Given the description of an element on the screen output the (x, y) to click on. 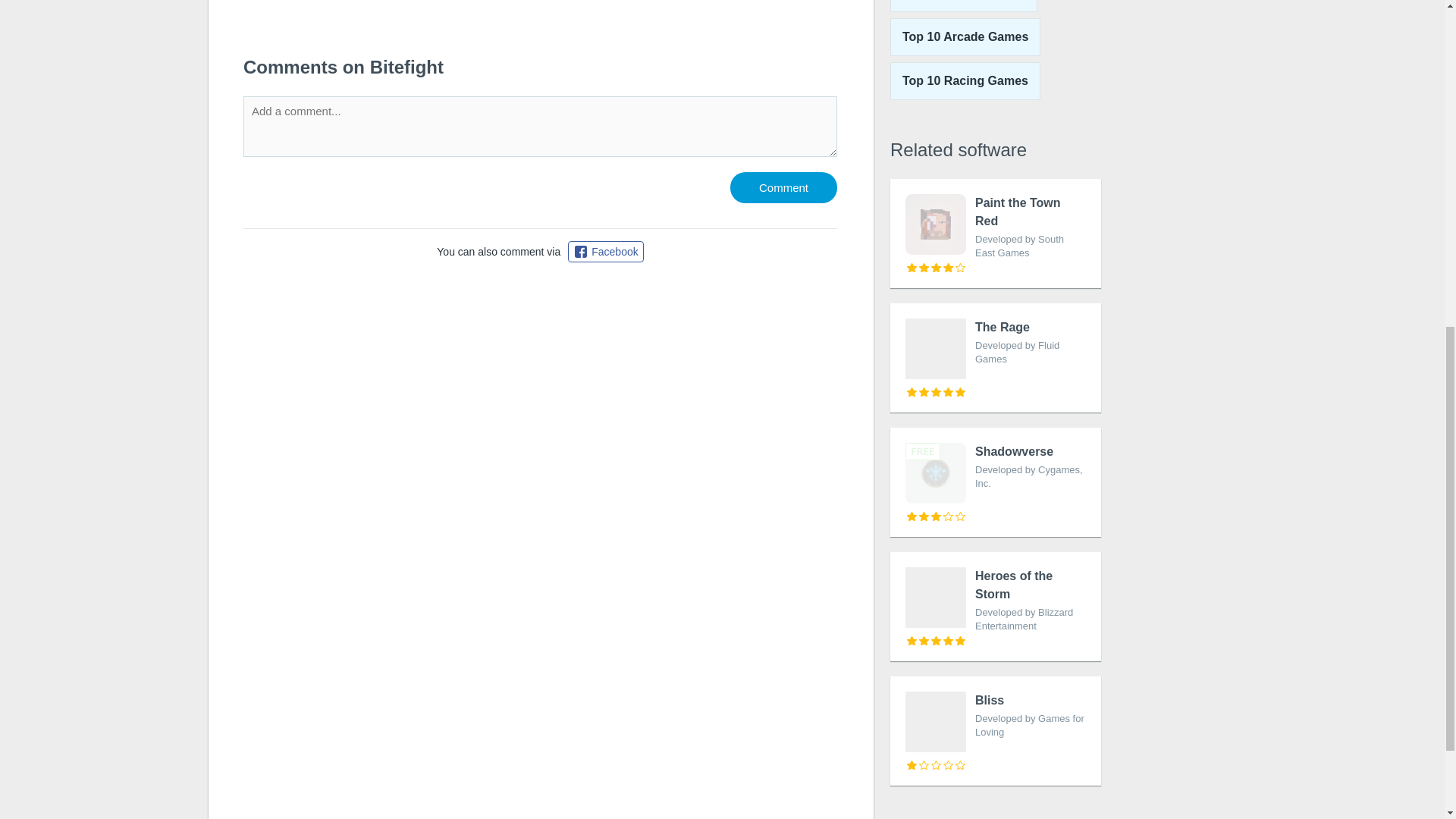
Top 10 Arcade Games (994, 357)
Top 10 Arcade Games for Windows (994, 730)
Top 10 Racing Games (965, 37)
Top 10 Action Games for Windows (965, 37)
Advertisement (965, 80)
Top 10 Racing Games for Windows (962, 6)
Top 10 Action Games (540, 20)
Comment (965, 80)
Comment (962, 6)
